Given the description of an element on the screen output the (x, y) to click on. 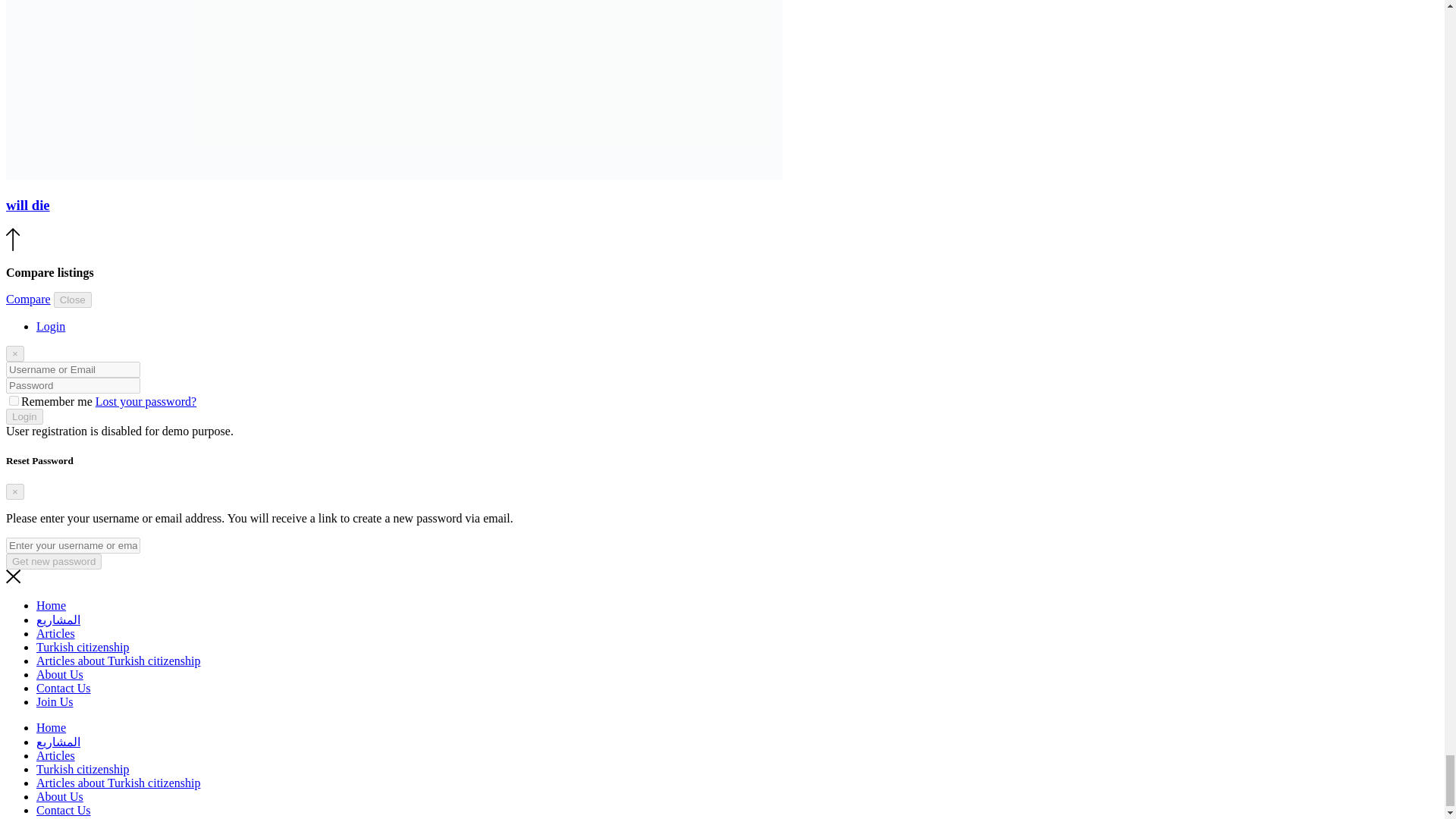
on (13, 400)
arrow (12, 239)
